Given the description of an element on the screen output the (x, y) to click on. 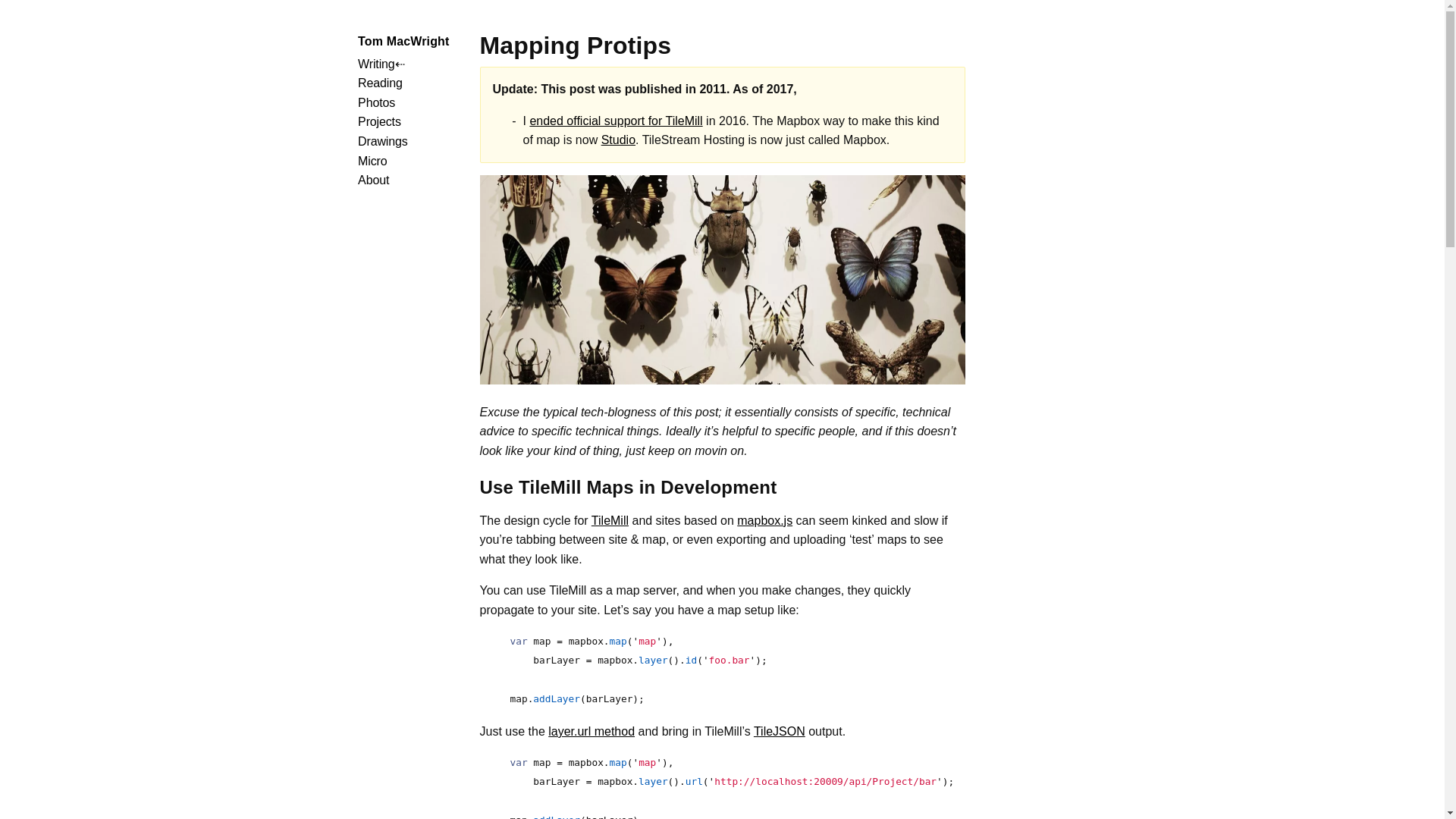
Reading (380, 82)
Writing (376, 63)
TileJSON (779, 730)
TileMill (609, 520)
Projects (379, 121)
Tom MacWright (403, 41)
Photos (376, 102)
Micro (372, 160)
ended official support for TileMill (615, 120)
layer.url method (591, 730)
Drawings (382, 141)
Studio (617, 139)
About (373, 179)
mapbox.js (764, 520)
